Given the description of an element on the screen output the (x, y) to click on. 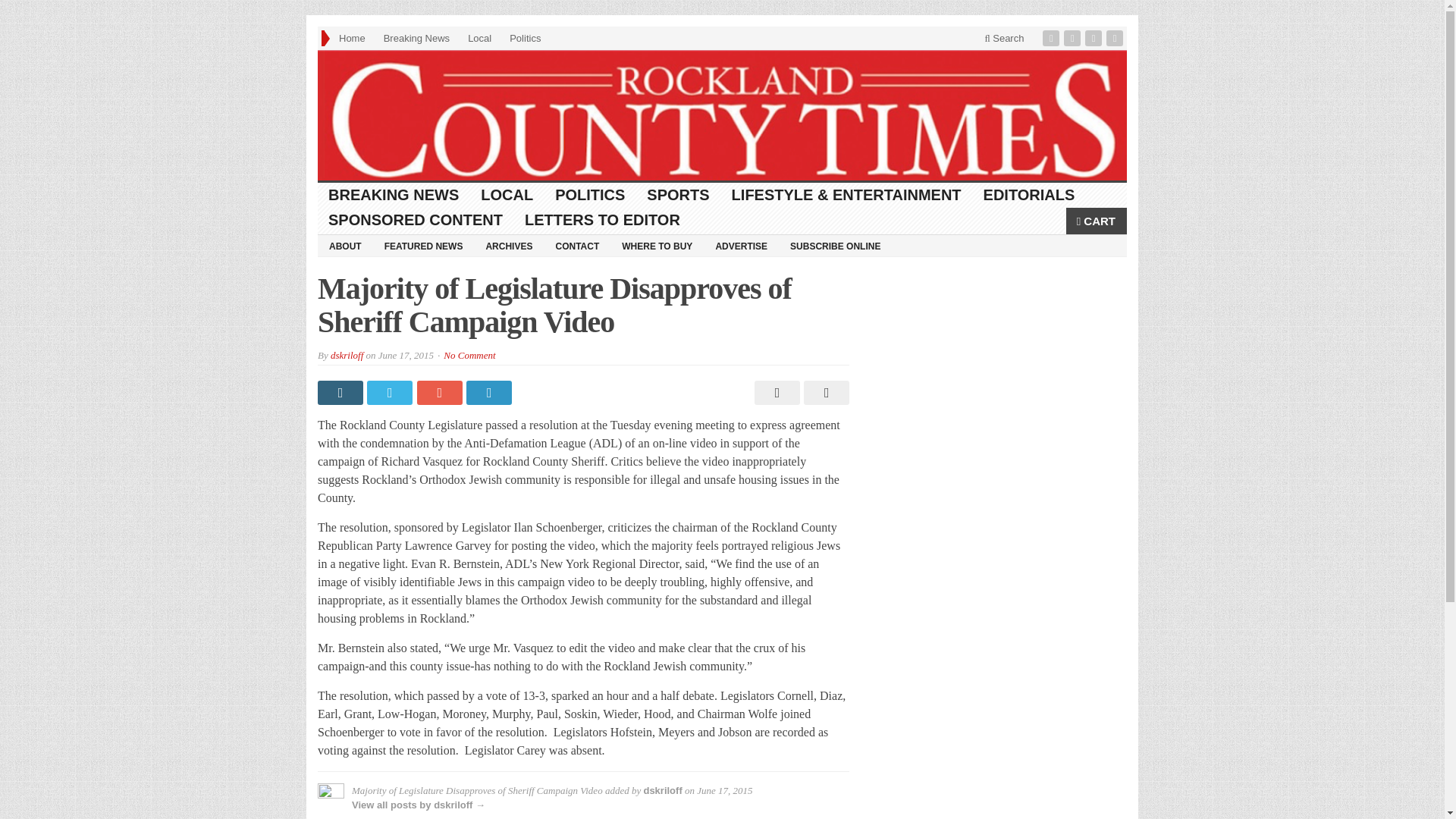
SUBSCRIBE ONLINE (834, 245)
dskriloff (662, 790)
No Comment (469, 355)
CART (1095, 221)
Home (352, 37)
POLITICS (590, 195)
CONTACT (576, 245)
SPONSORED CONTENT (415, 220)
ABOUT (344, 245)
Breaking News (416, 37)
